Given the description of an element on the screen output the (x, y) to click on. 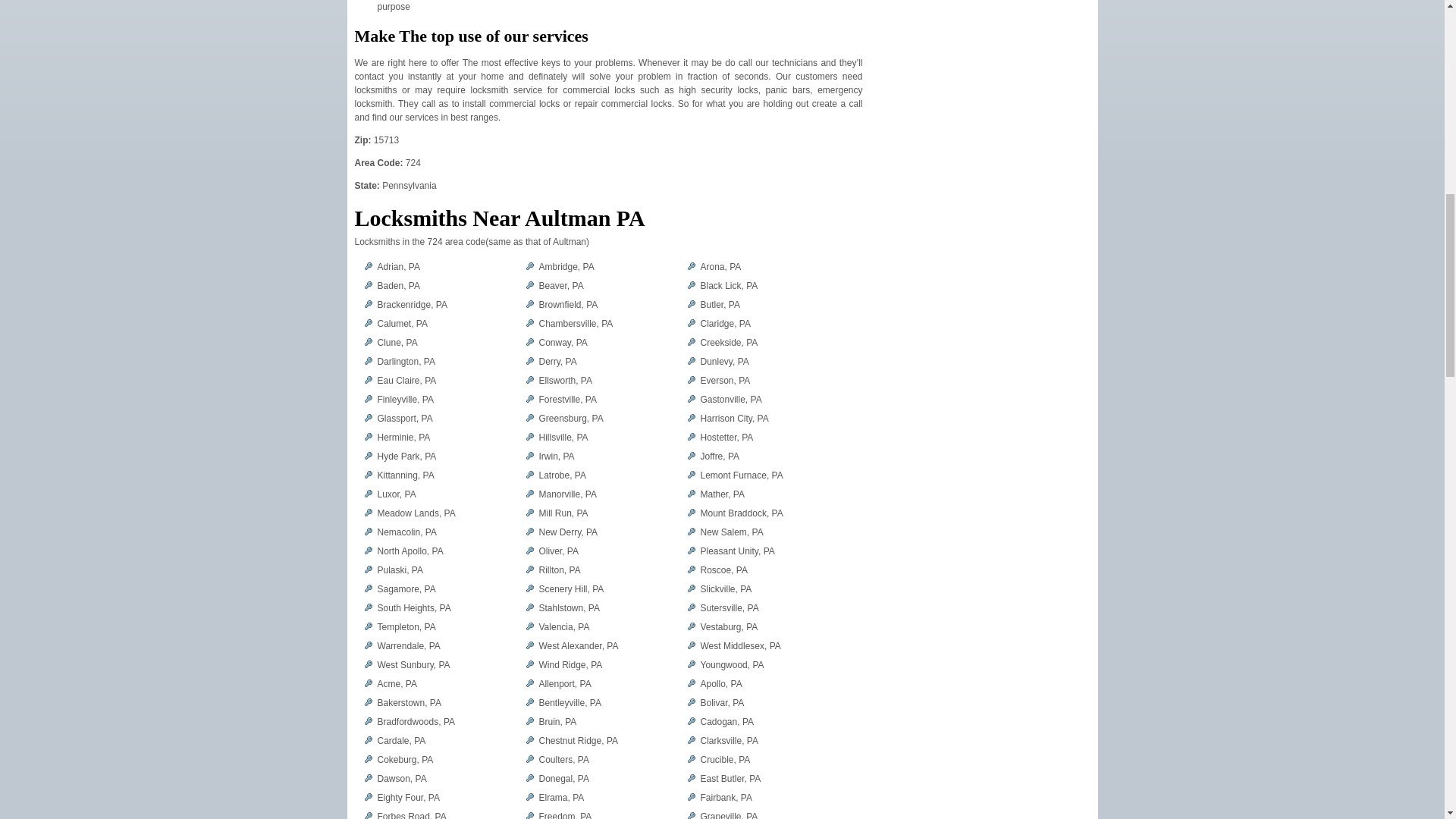
Glassport, PA (404, 418)
Darlington, PA (406, 361)
Claridge, PA (725, 323)
Ambridge, PA (566, 266)
Forestville, PA (566, 398)
Butler, PA (719, 304)
Clune, PA (397, 342)
Brownfield, PA (567, 304)
Pennsylvania (408, 185)
Everson, PA (725, 380)
